Given the description of an element on the screen output the (x, y) to click on. 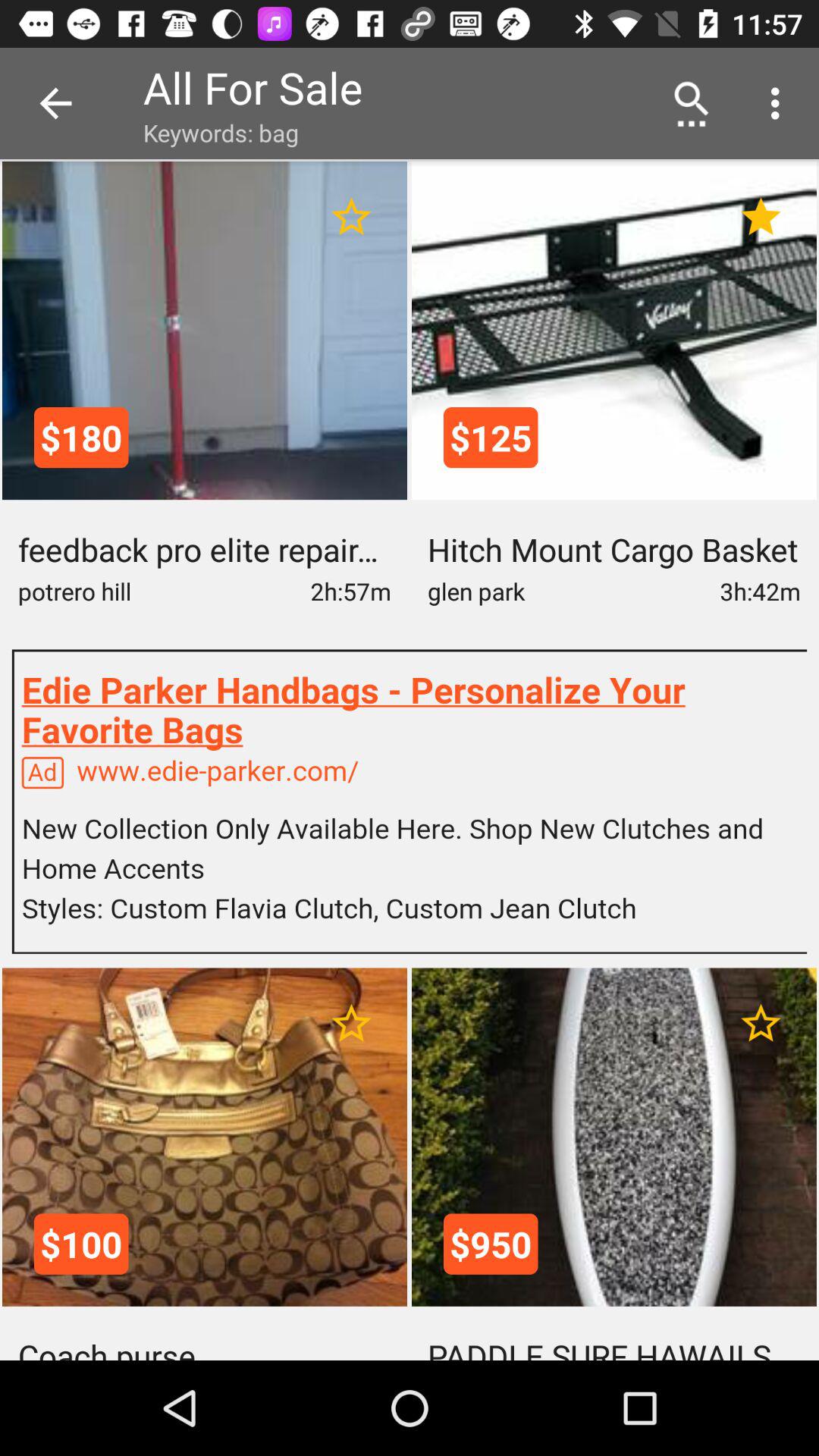
select advertisement (409, 801)
